Given the description of an element on the screen output the (x, y) to click on. 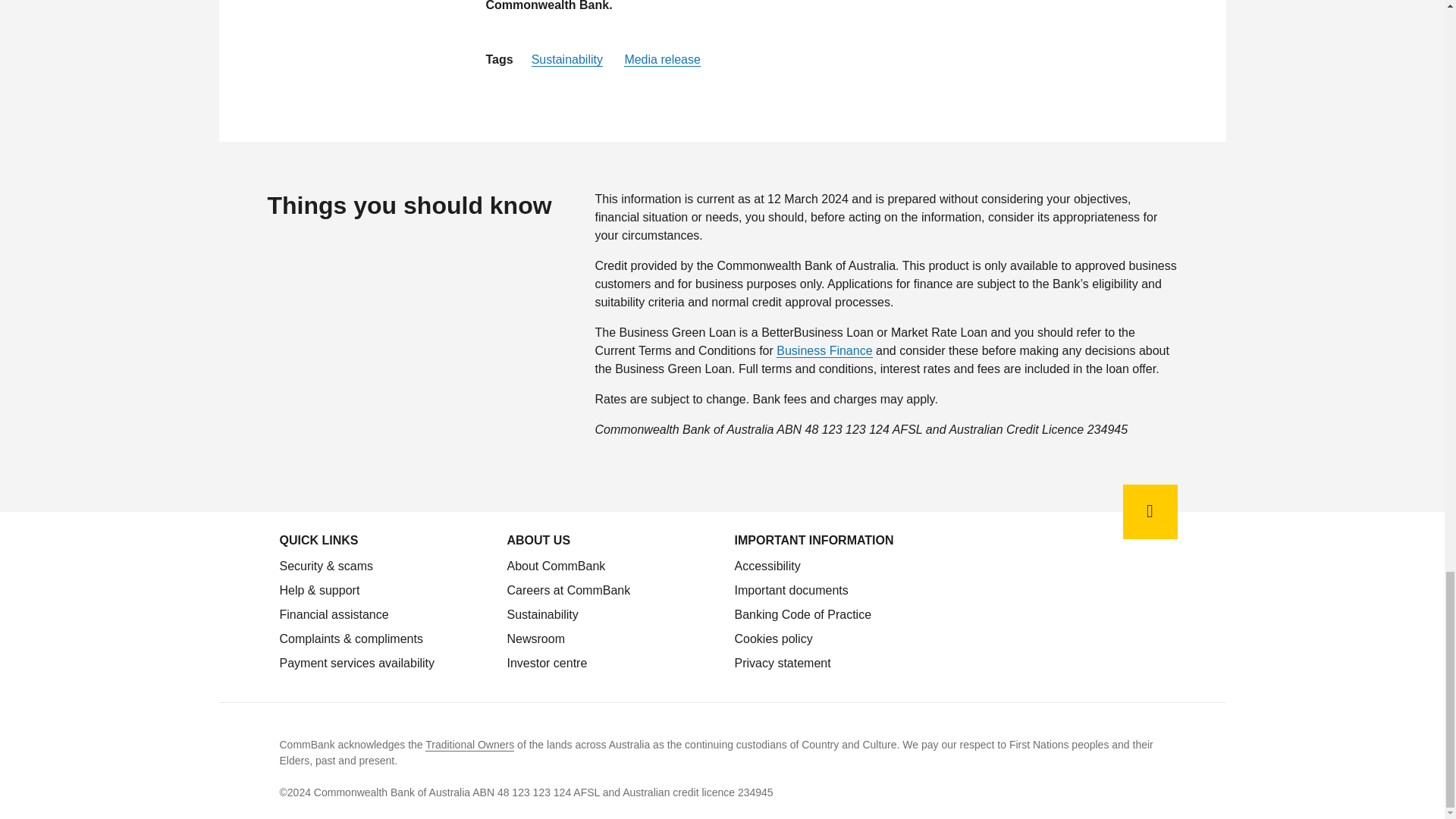
Back to top (1149, 511)
